Given the description of an element on the screen output the (x, y) to click on. 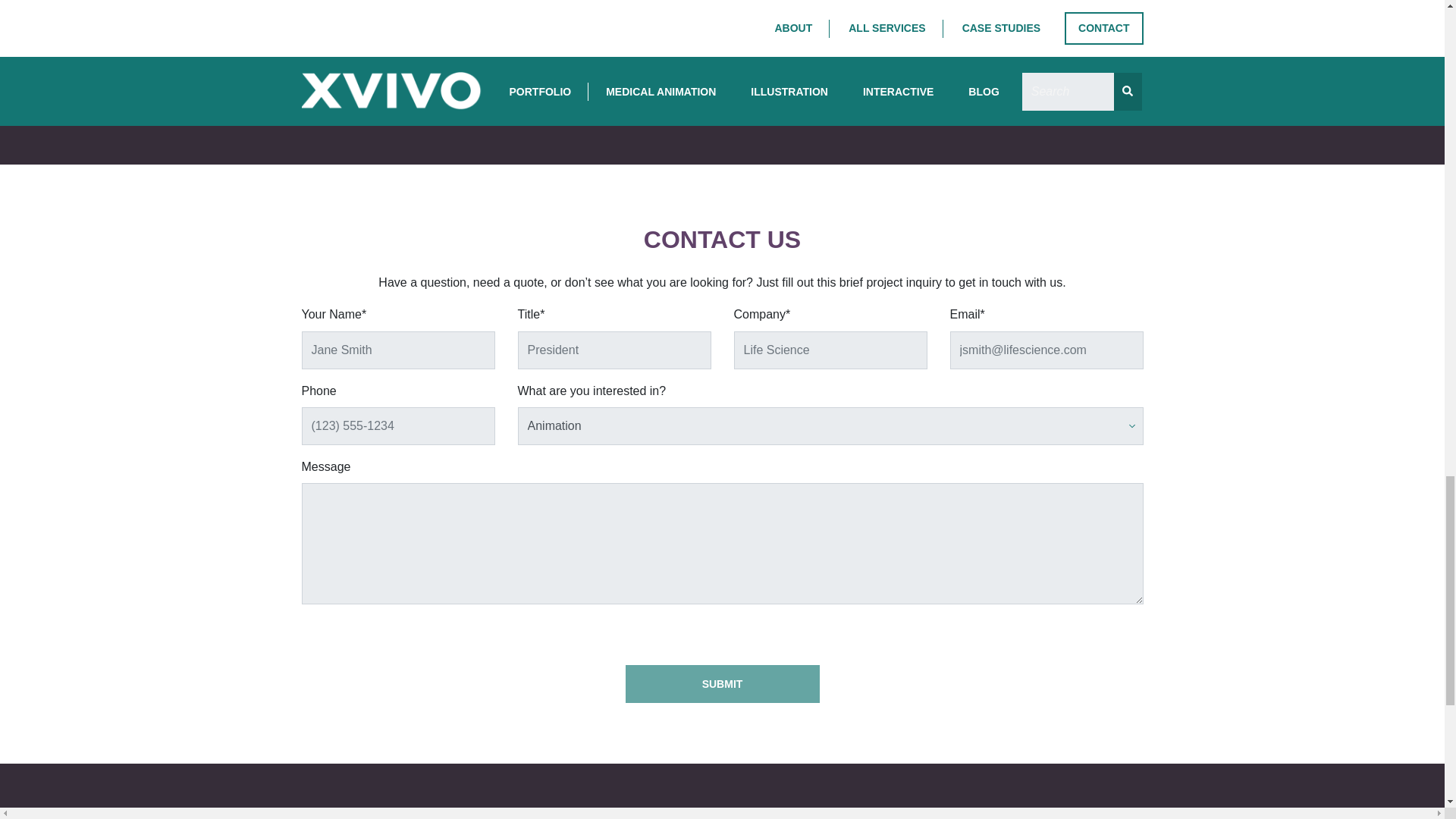
WALLPAPERS (721, 85)
Submit (721, 683)
Submit (721, 683)
